Given the description of an element on the screen output the (x, y) to click on. 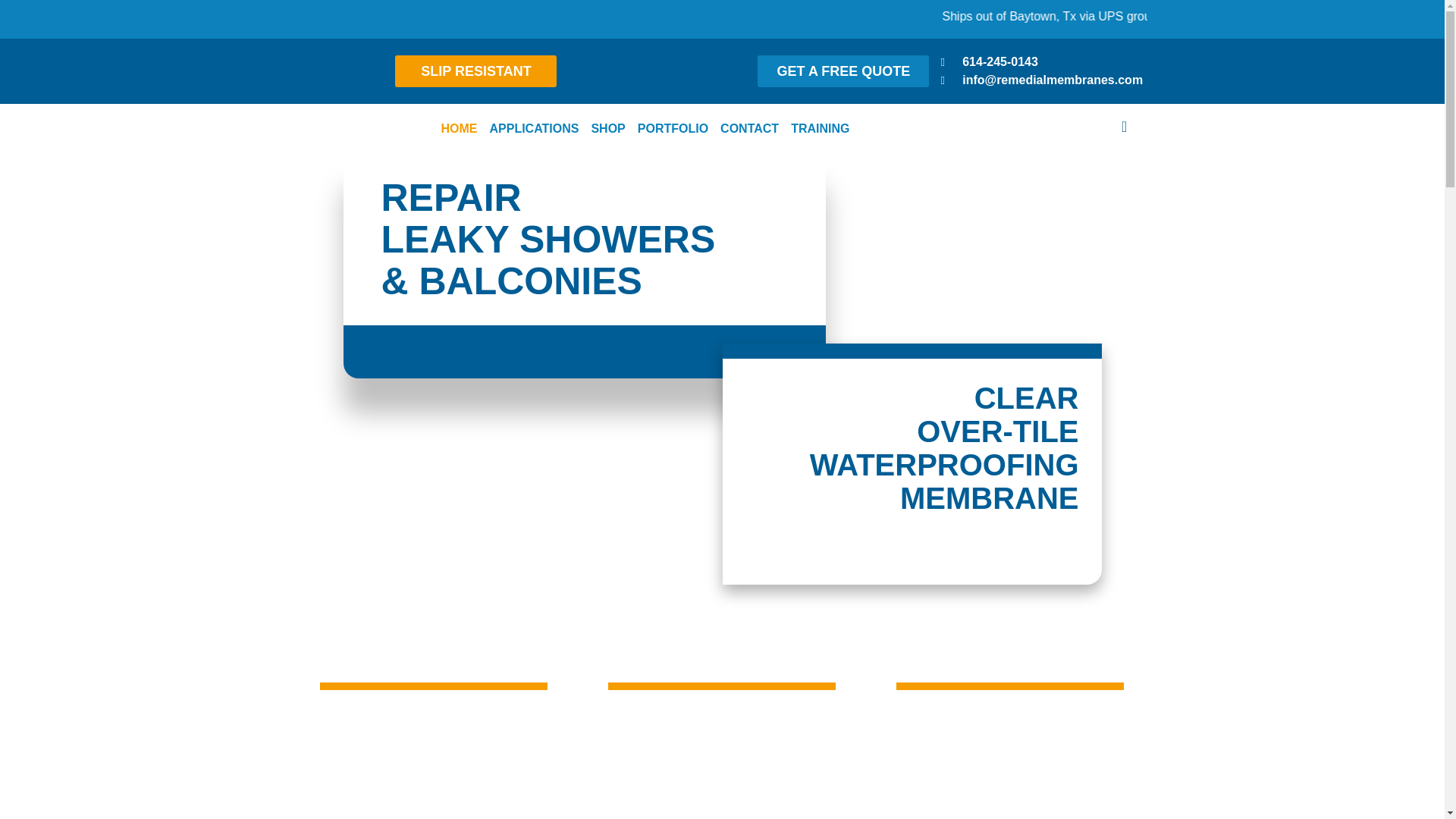
APPLICATIONS (534, 129)
GET A FREE QUOTE (842, 70)
CONTACT (749, 129)
HOME (458, 129)
SHOP (607, 129)
PORTFOLIO (672, 129)
SLIP RESISTANT (475, 70)
614-245-0143 (988, 62)
